Given the description of an element on the screen output the (x, y) to click on. 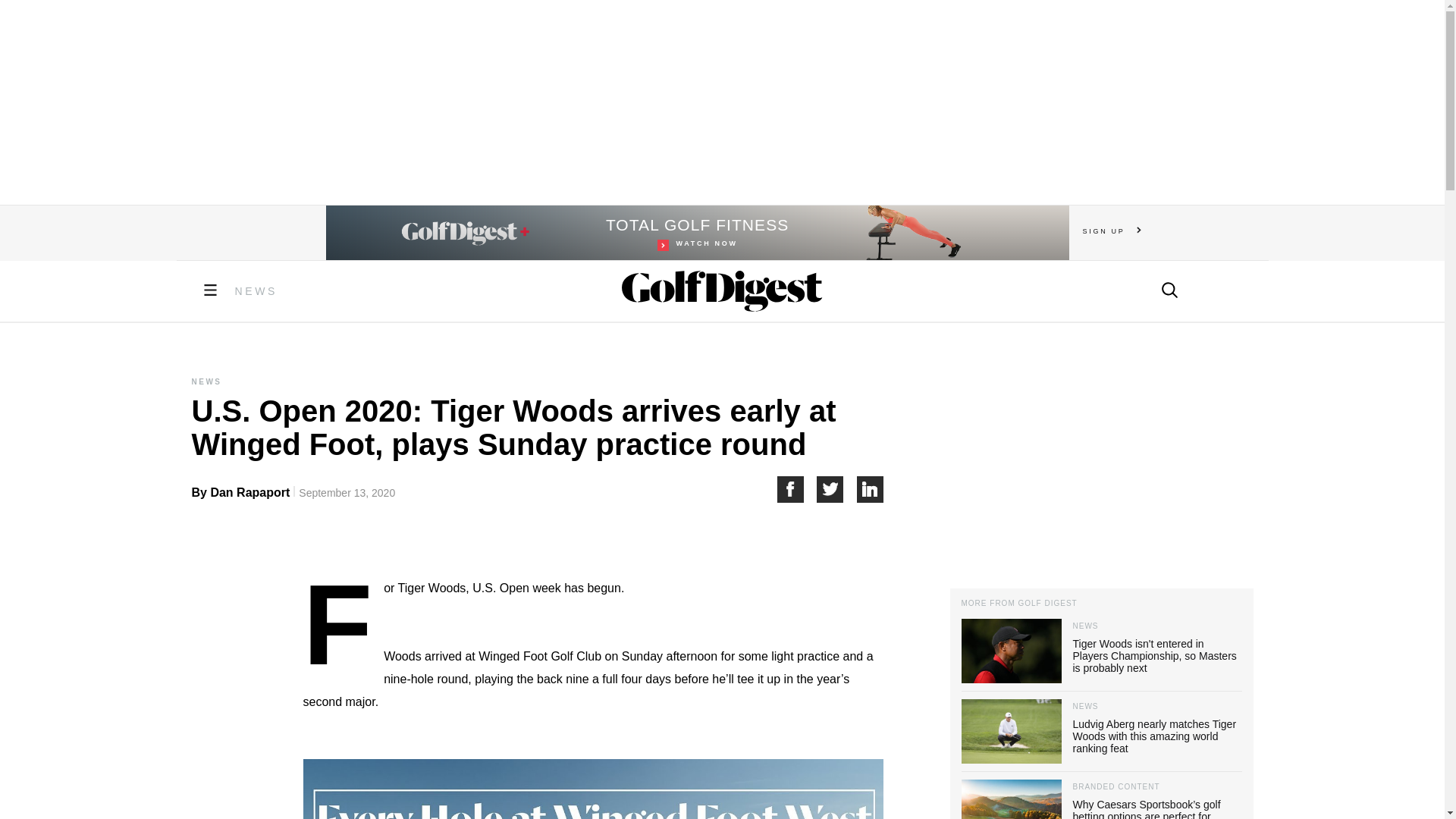
NEWS (256, 291)
Share on Twitter (836, 488)
Share on Facebook (796, 488)
3rd party ad content (721, 101)
Share on LinkedIn (870, 488)
SIGN UP (1112, 230)
